Given the description of an element on the screen output the (x, y) to click on. 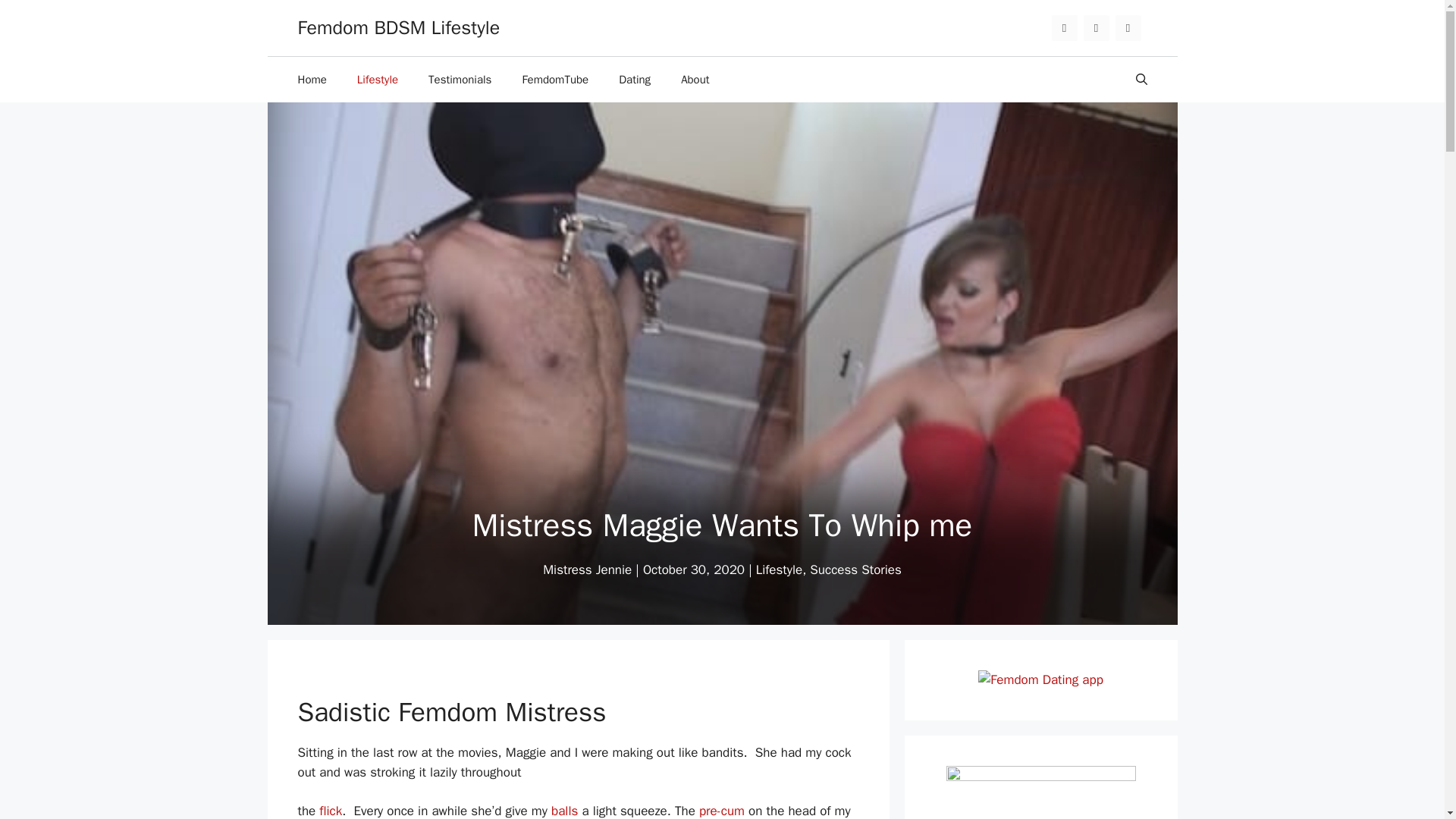
About Femdom (694, 79)
Femdom Fiction (459, 79)
Femdom BDSM Lifestyle (398, 27)
Femdom Videos (555, 79)
Mistress Jennie (587, 569)
Lifestyle (377, 79)
Snapchat (1127, 27)
About (694, 79)
Testimonials (459, 79)
Lifestyle (778, 569)
